Given the description of an element on the screen output the (x, y) to click on. 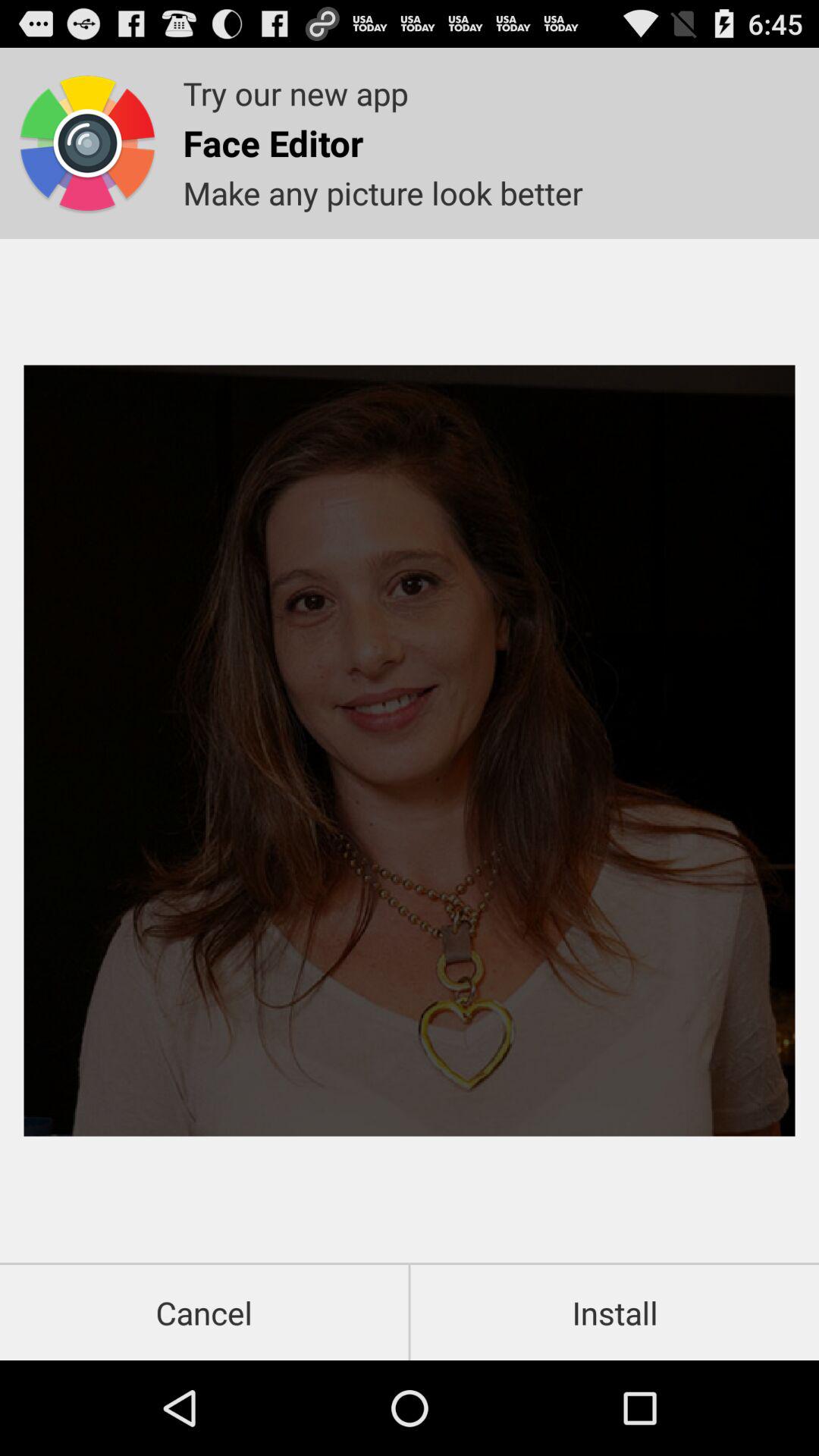
jump until the install icon (614, 1312)
